Given the description of an element on the screen output the (x, y) to click on. 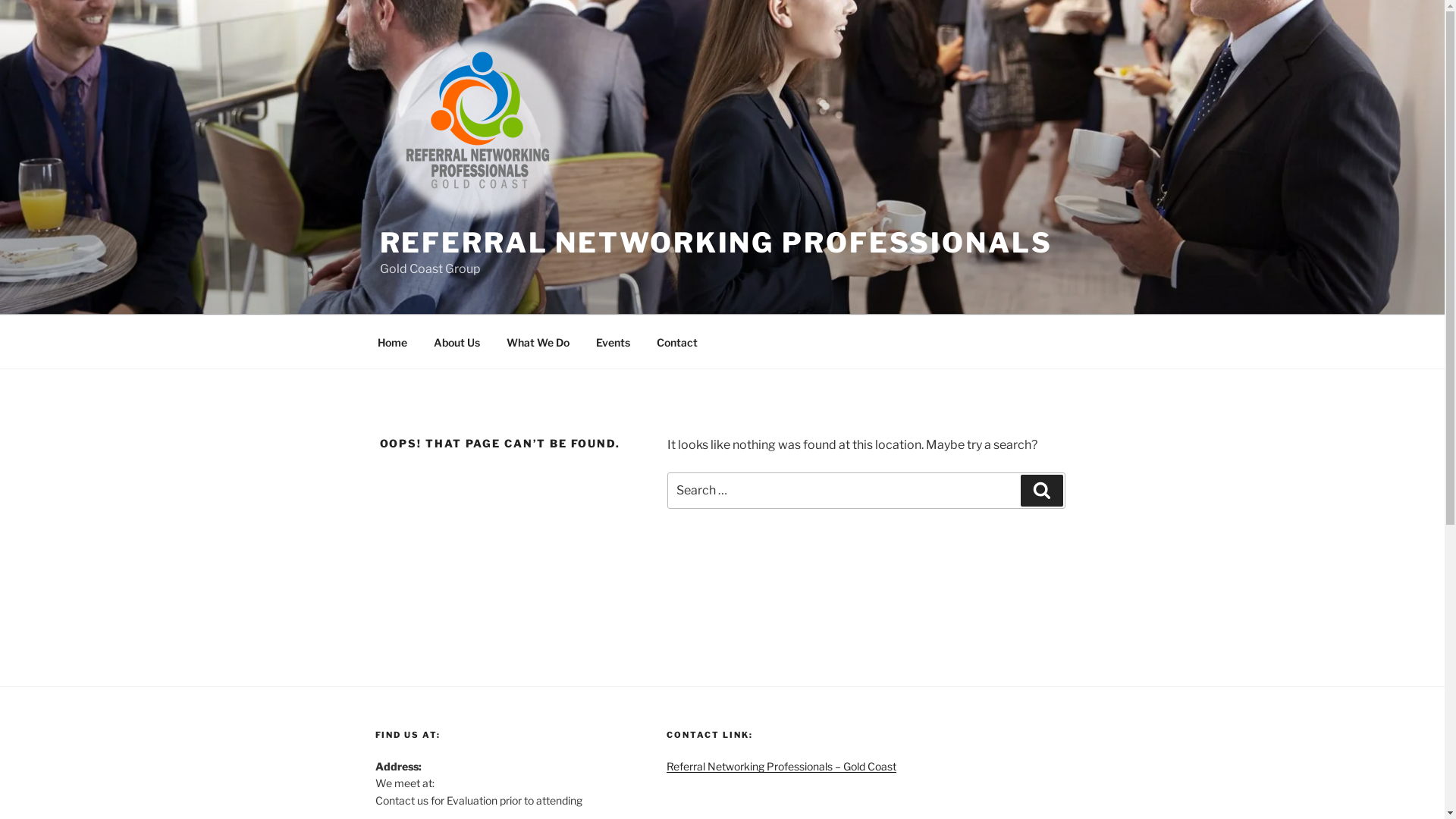
REFERRAL NETWORKING PROFESSIONALS Element type: text (715, 242)
What We Do Element type: text (537, 341)
Events Element type: text (612, 341)
Search Element type: text (1041, 490)
Contact Element type: text (676, 341)
About Us Element type: text (456, 341)
Home Element type: text (392, 341)
